Given the description of an element on the screen output the (x, y) to click on. 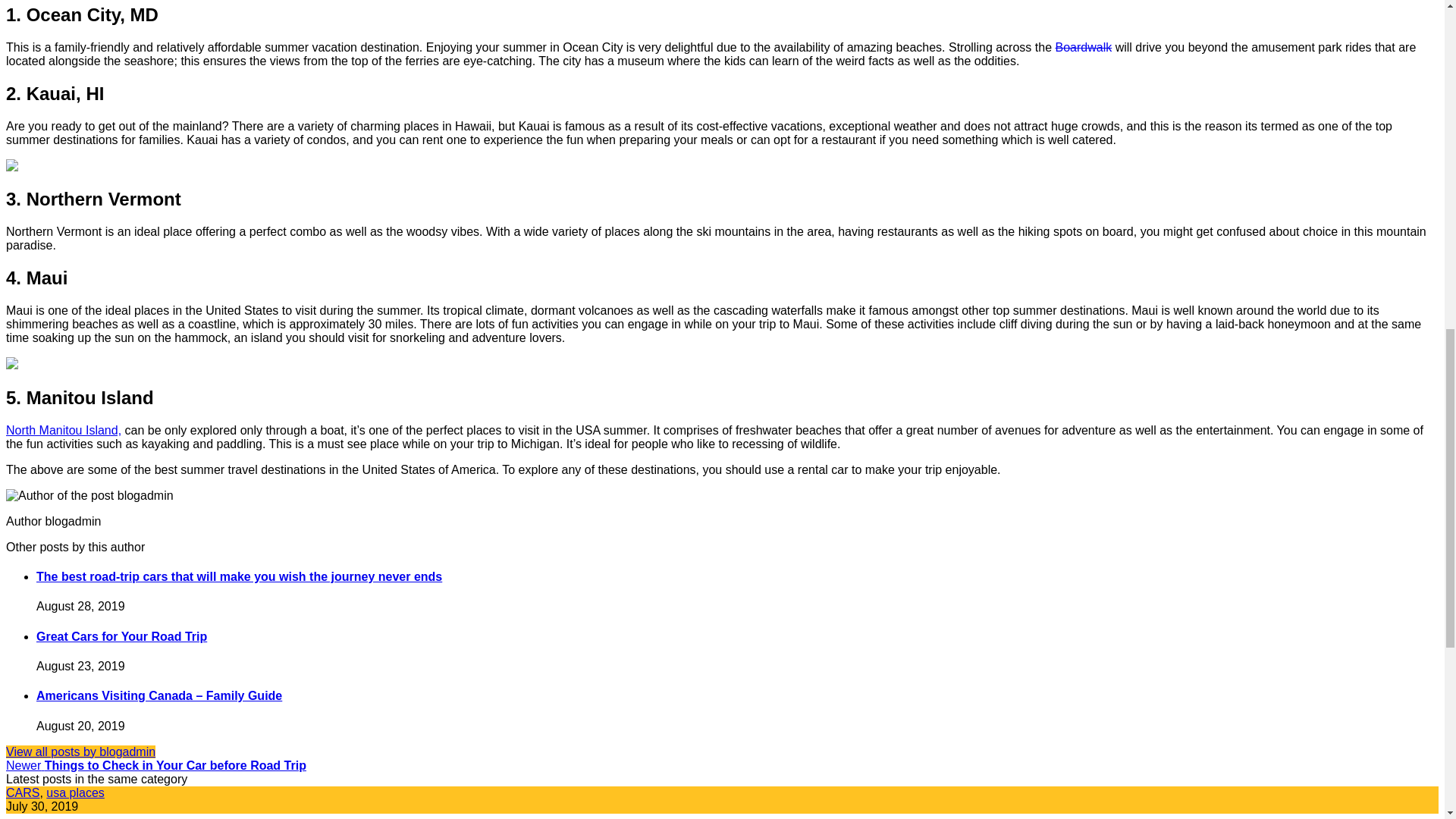
Boardwalk (1083, 47)
CARS (22, 792)
View all posts by blogadmin (80, 751)
usa places (75, 792)
Great Cars for Your Road Trip (121, 635)
Newer Things to Check in Your Car before Road Trip (155, 765)
North Manitou Island, (62, 430)
